Given the description of an element on the screen output the (x, y) to click on. 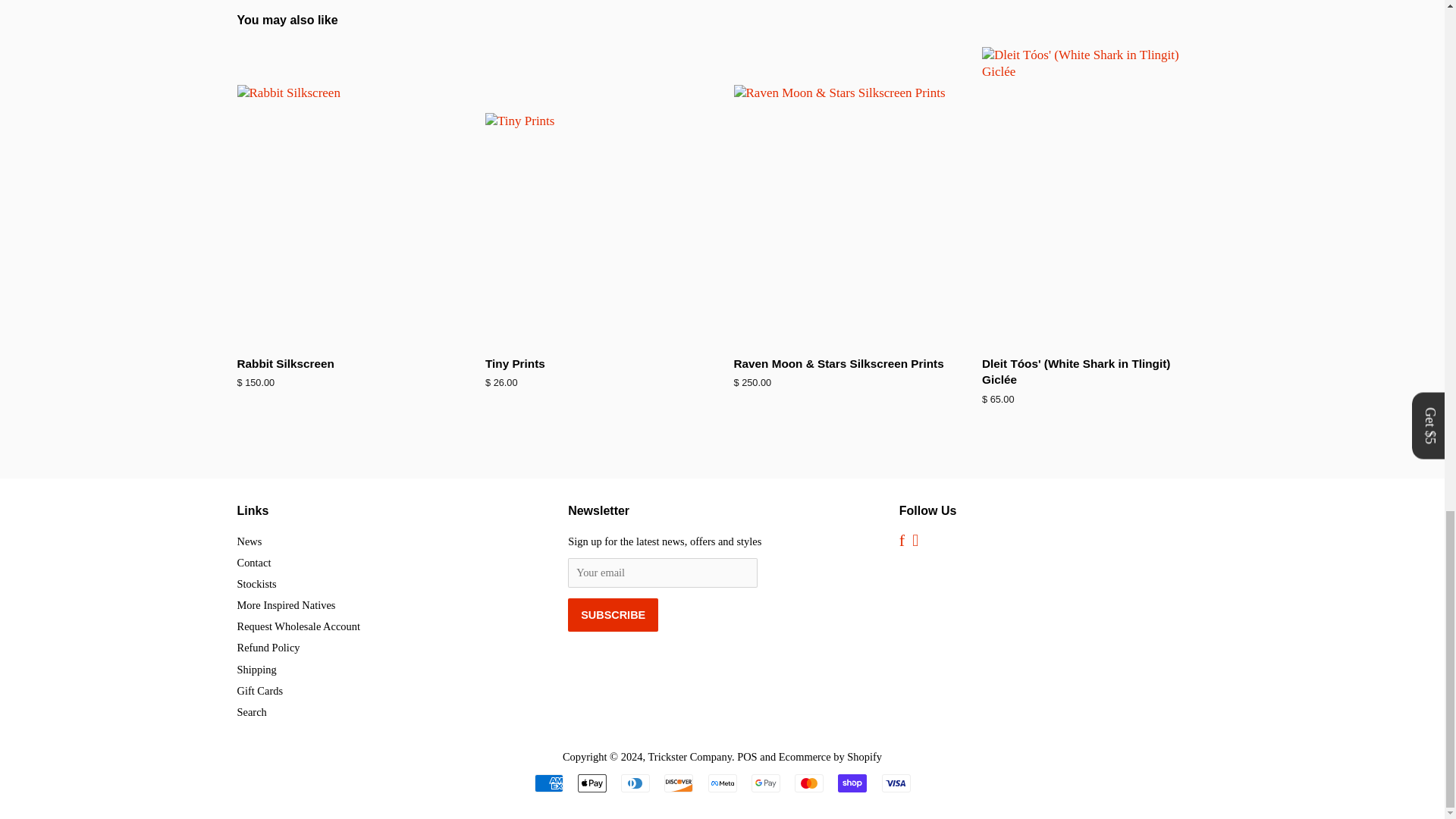
American Express (548, 782)
Diners Club (635, 782)
Apple Pay (592, 782)
Visa (895, 782)
Mastercard (809, 782)
Discover (678, 782)
Shop Pay (852, 782)
Subscribe (612, 614)
Google Pay (765, 782)
Meta Pay (721, 782)
